Given the description of an element on the screen output the (x, y) to click on. 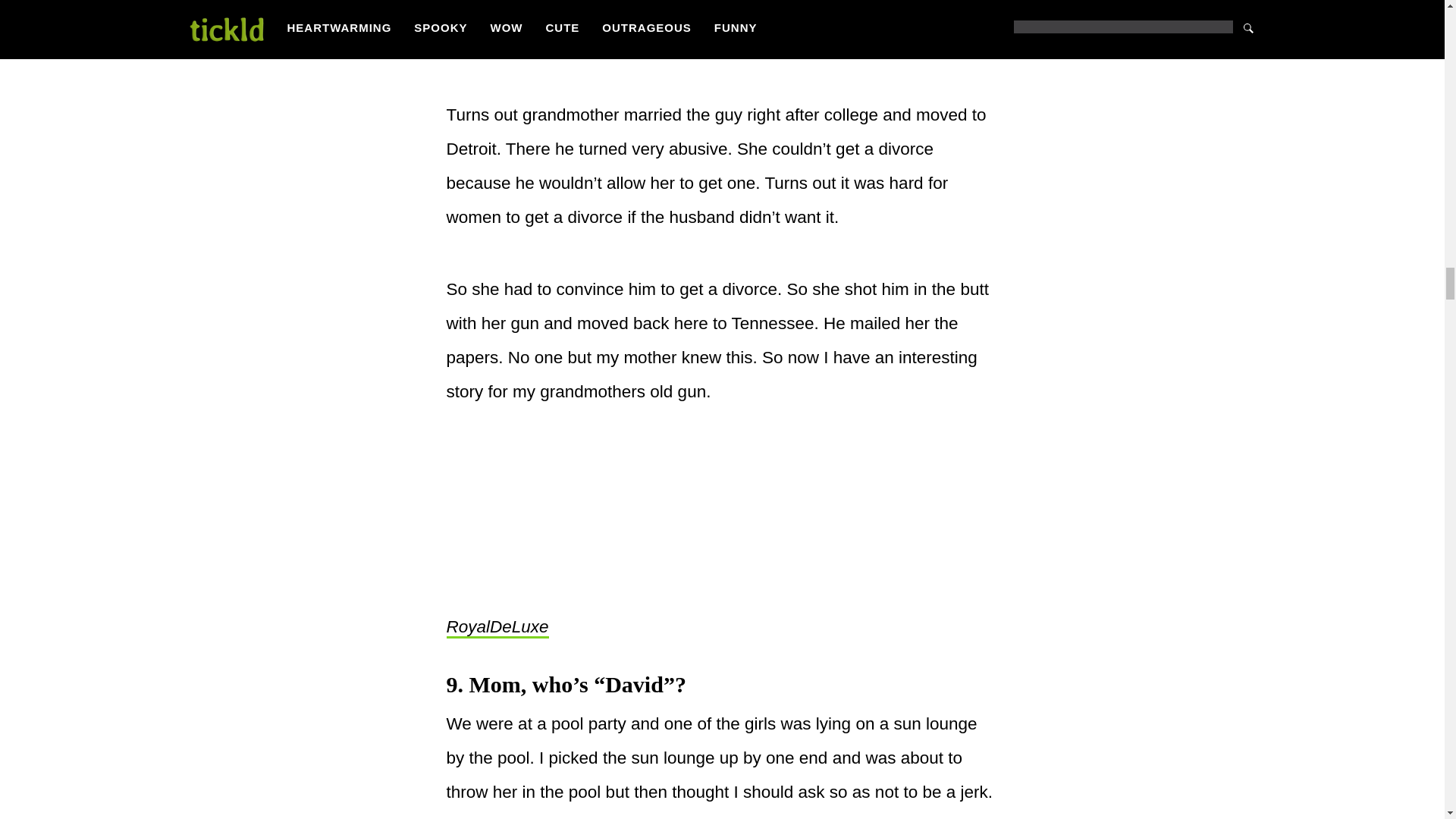
RoyalDeLuxe (496, 627)
